Given the description of an element on the screen output the (x, y) to click on. 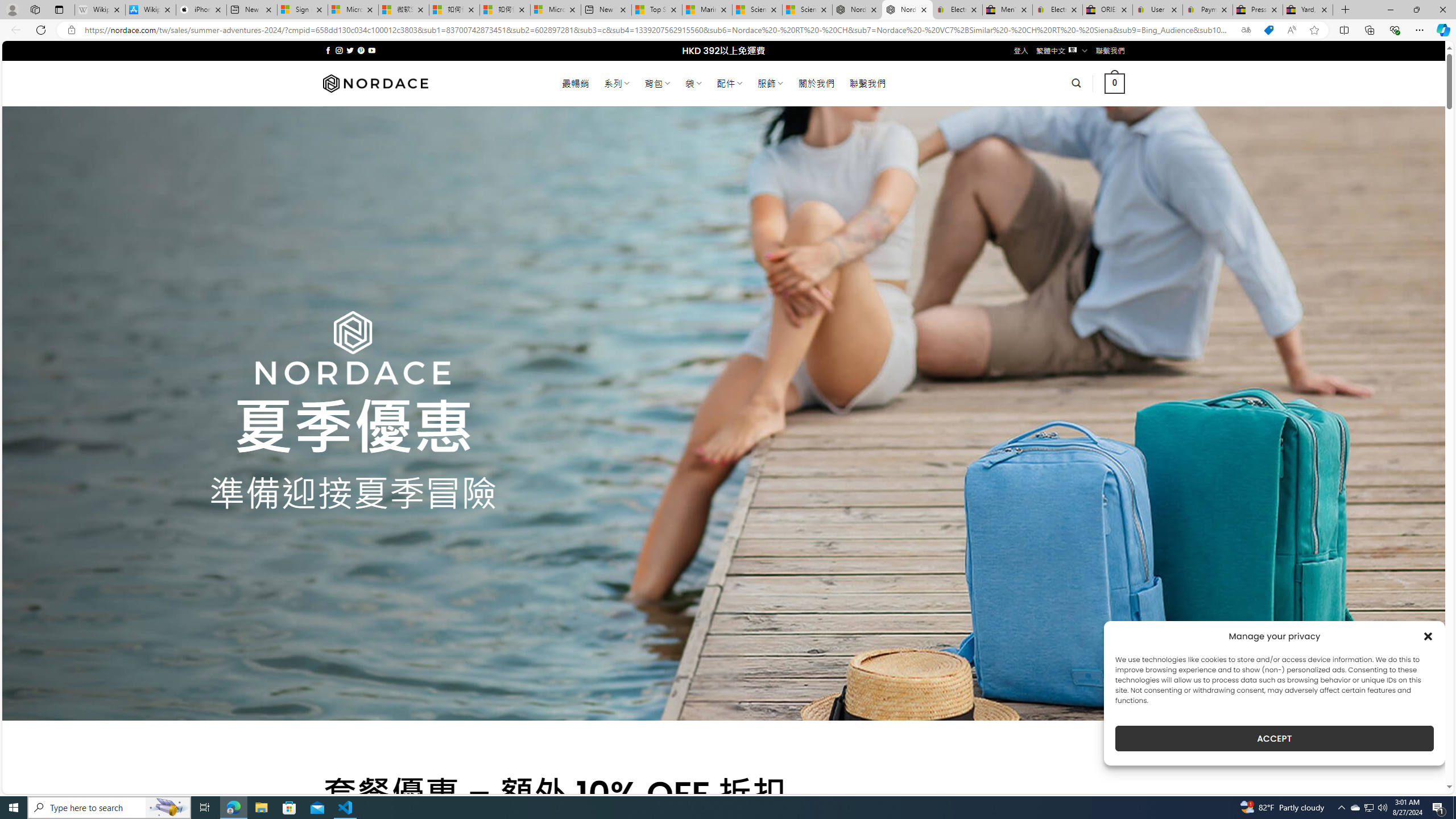
iPhone - Apple (201, 9)
Electronics, Cars, Fashion, Collectibles & More | eBay (1057, 9)
